Given the description of an element on the screen output the (x, y) to click on. 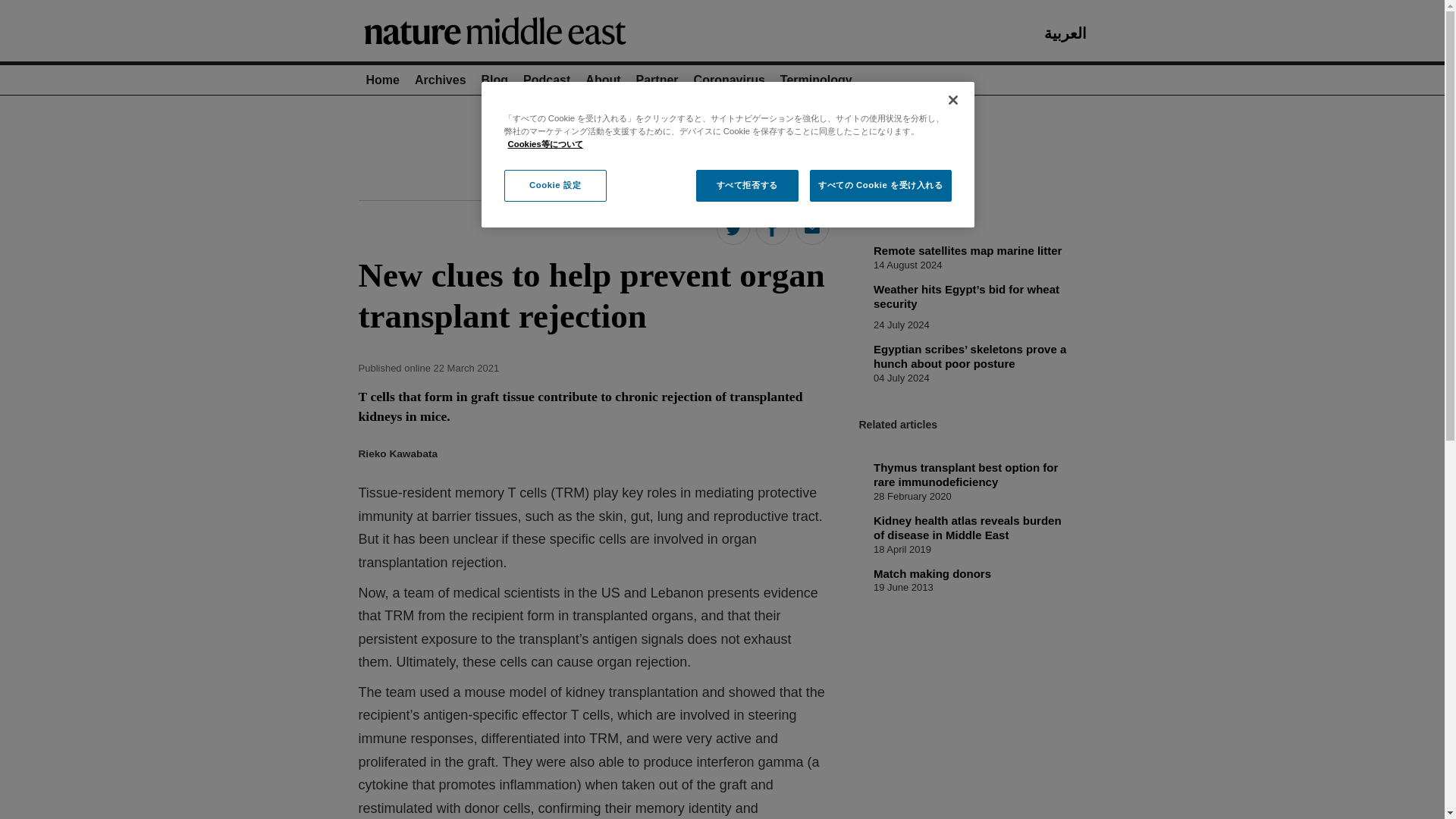
Kidney health atlas reveals burden of disease in Middle East (967, 528)
Terminology (816, 80)
Coronavirus (729, 80)
3rd party ad content (721, 141)
Home (382, 80)
Blog (495, 80)
Thymus transplant best option for rare immunodeficiency (965, 474)
Remote satellites map marine litter (967, 250)
Partner (656, 80)
Podcast (546, 80)
